Given the description of an element on the screen output the (x, y) to click on. 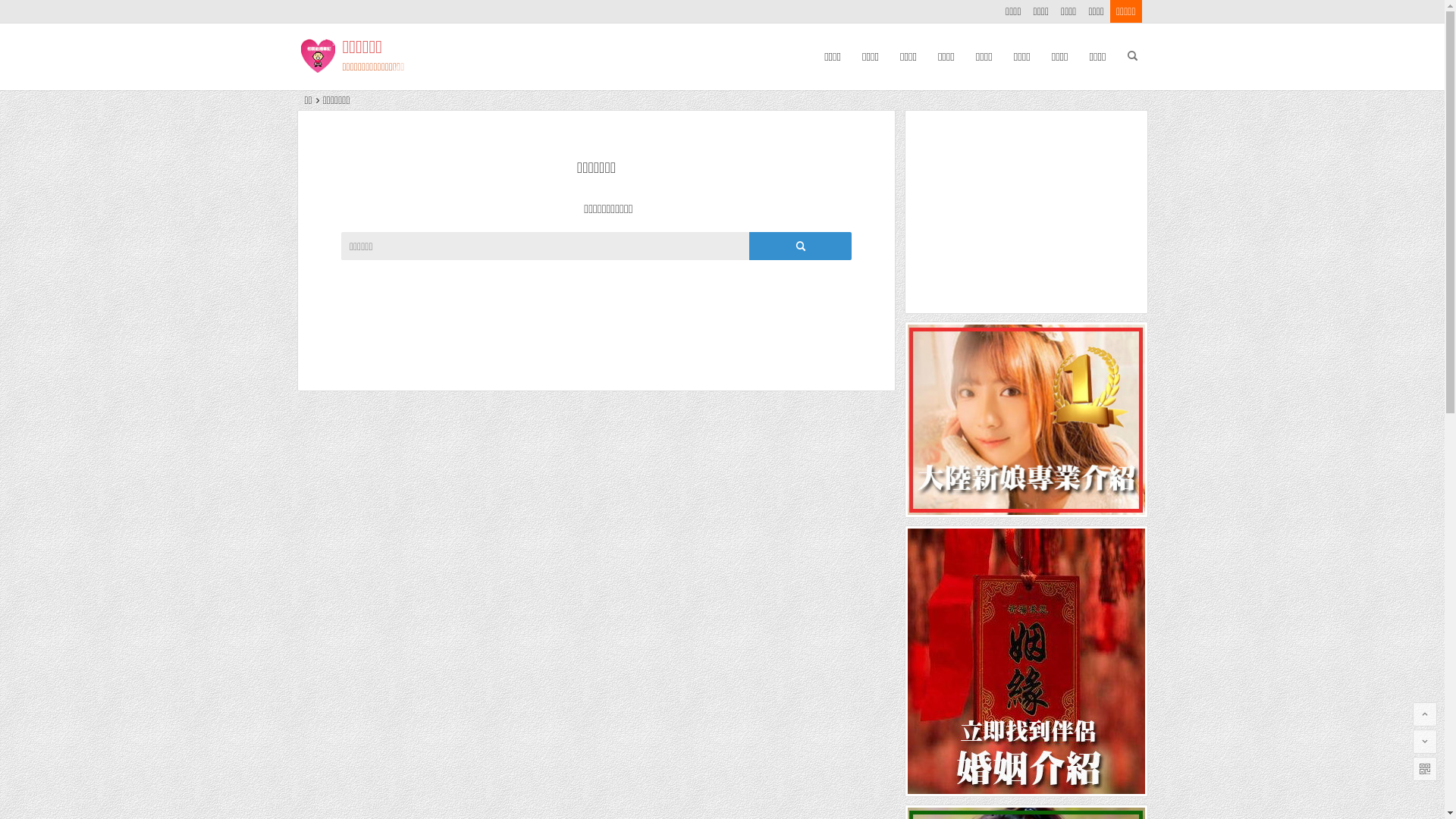
Advertisement Element type: hover (1026, 211)
